Given the description of an element on the screen output the (x, y) to click on. 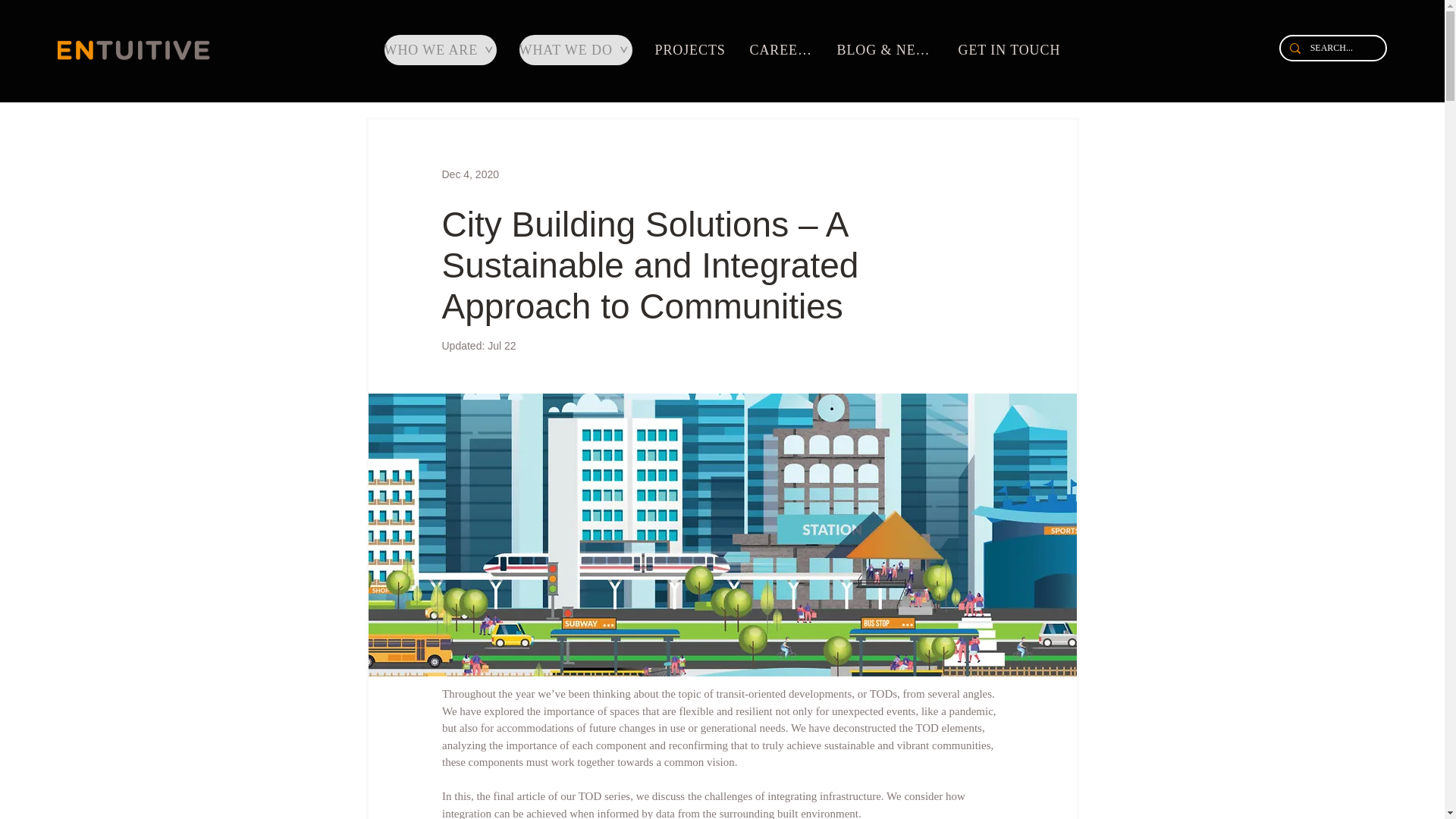
WHO WE ARE (440, 50)
PROJECTS (692, 50)
WHAT WE DO (574, 50)
Dec 4, 2020 (470, 174)
GET IN TOUCH (1011, 50)
CAREERS (782, 50)
Jul 22 (501, 345)
